Given the description of an element on the screen output the (x, y) to click on. 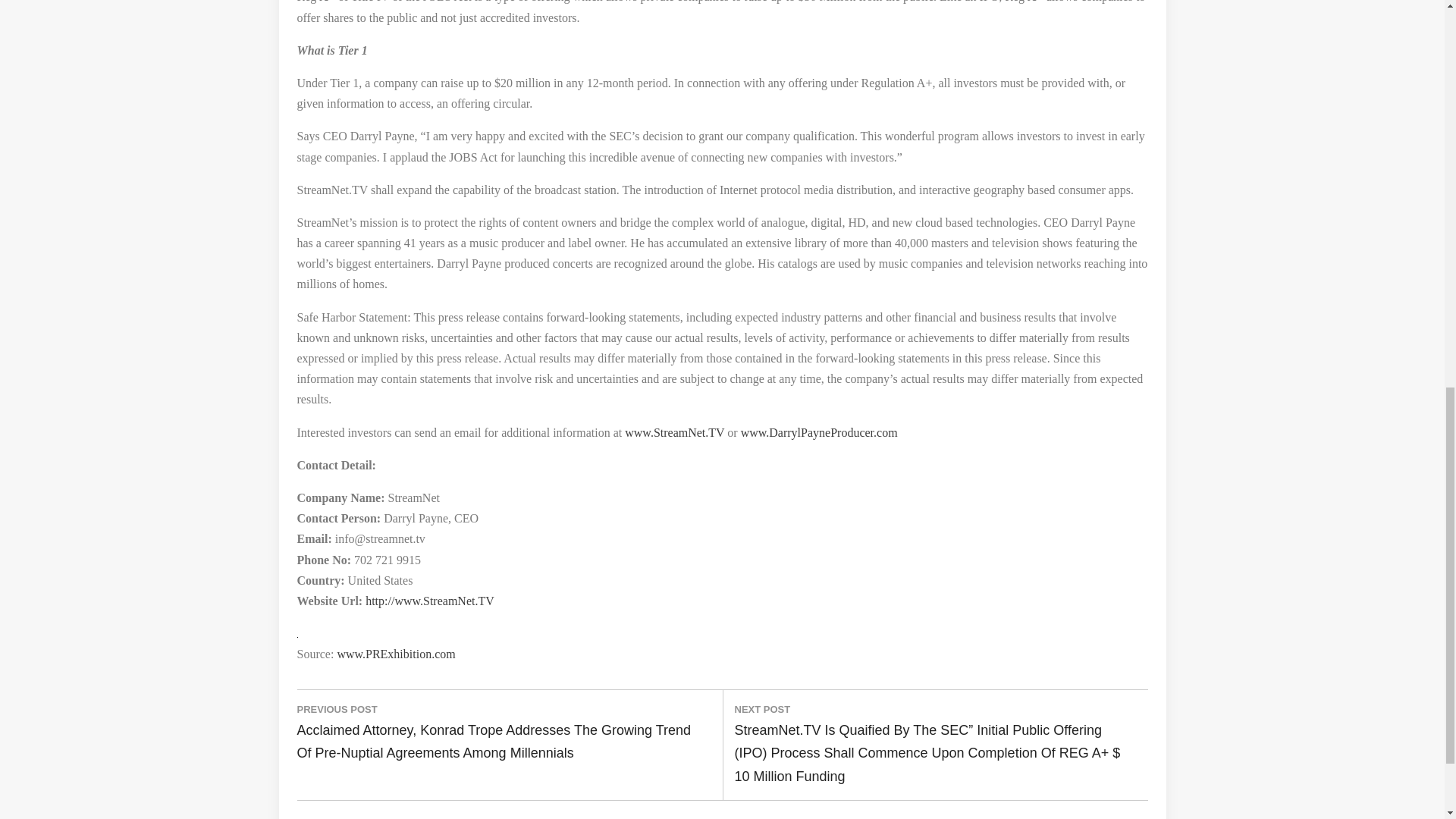
www.DarrylPayneProducer.com (819, 431)
www.StreamNet.TV (673, 431)
www.PRExhibition.com (395, 653)
